Given the description of an element on the screen output the (x, y) to click on. 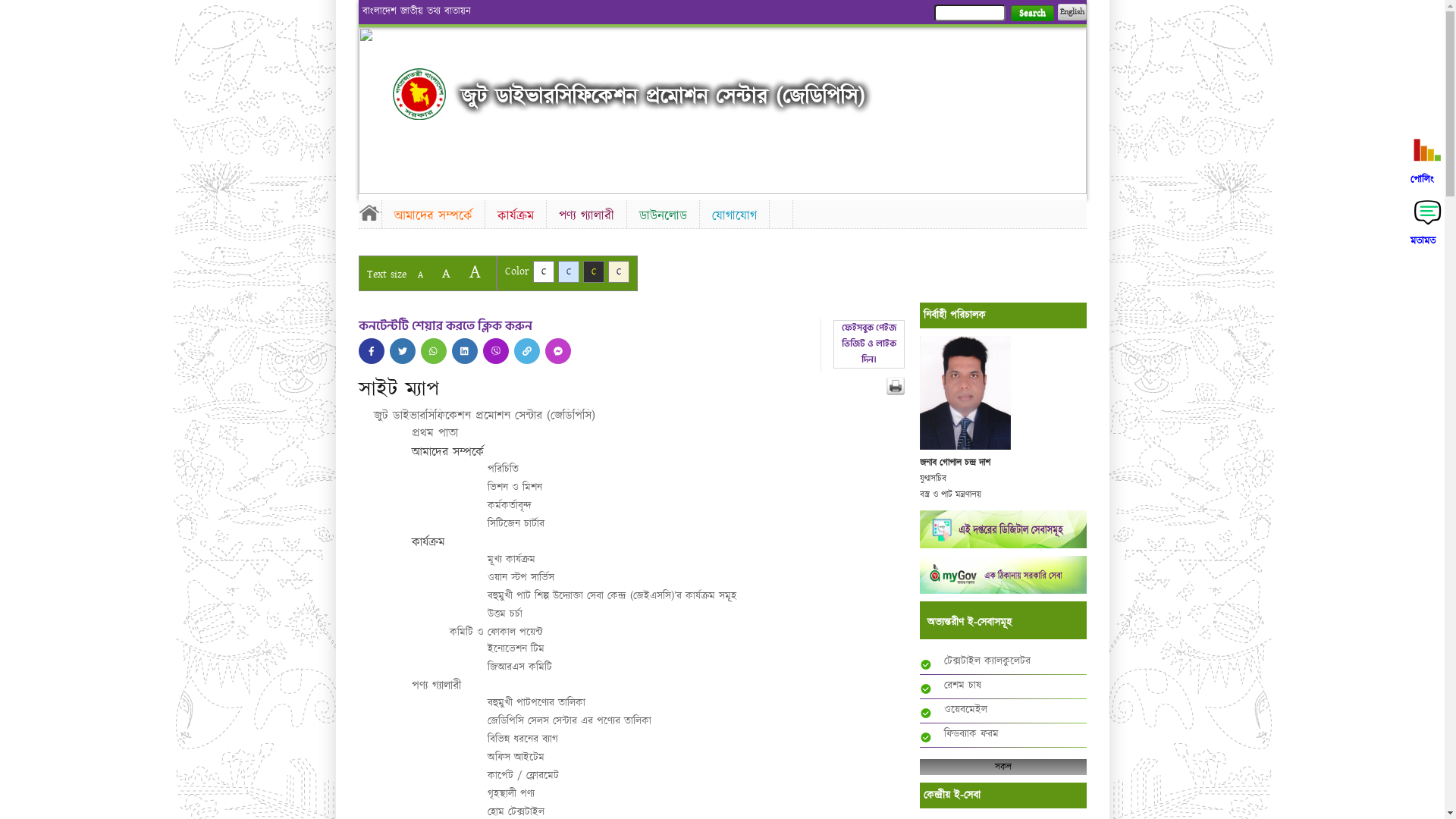
A Element type: text (445, 273)
A Element type: text (419, 274)
Home Element type: hover (418, 93)
C Element type: text (592, 271)
A Element type: text (474, 271)
C Element type: text (542, 271)
English Element type: text (1071, 11)
Search Element type: text (1031, 13)
C Element type: text (618, 271)
C Element type: text (568, 271)
Home Element type: hover (368, 211)
